Given the description of an element on the screen output the (x, y) to click on. 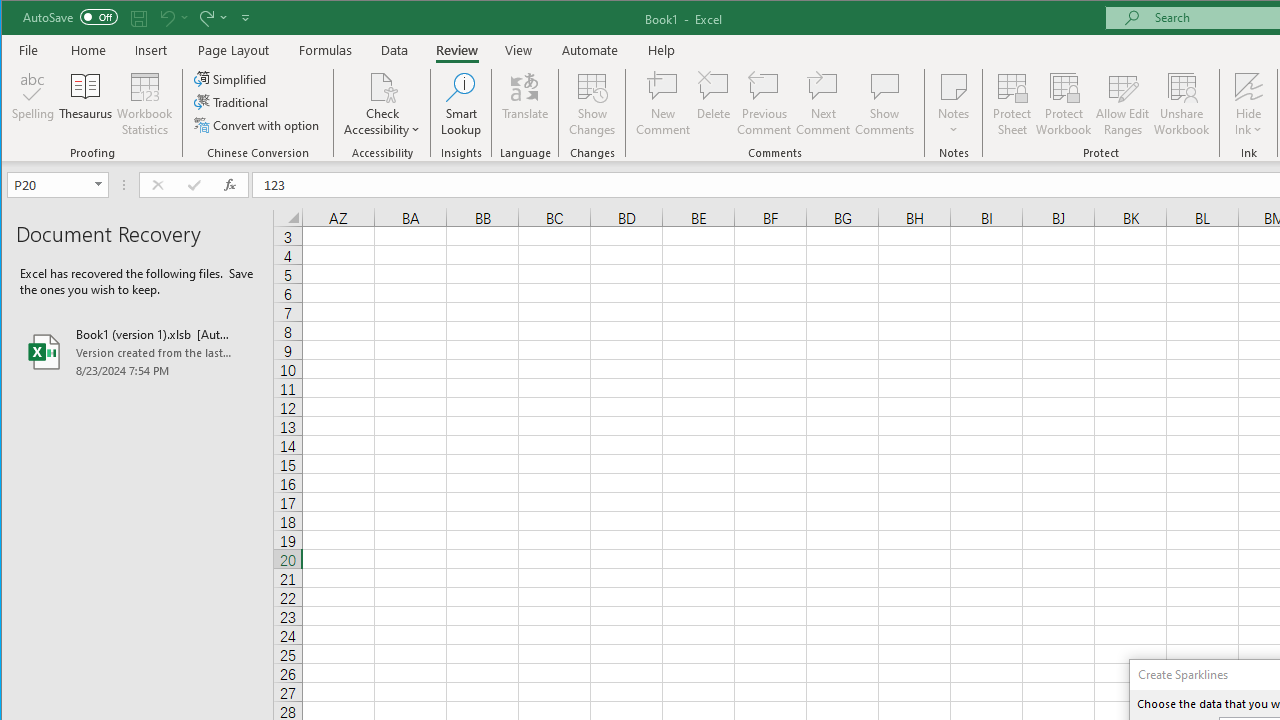
Check Accessibility (381, 104)
